Given the description of an element on the screen output the (x, y) to click on. 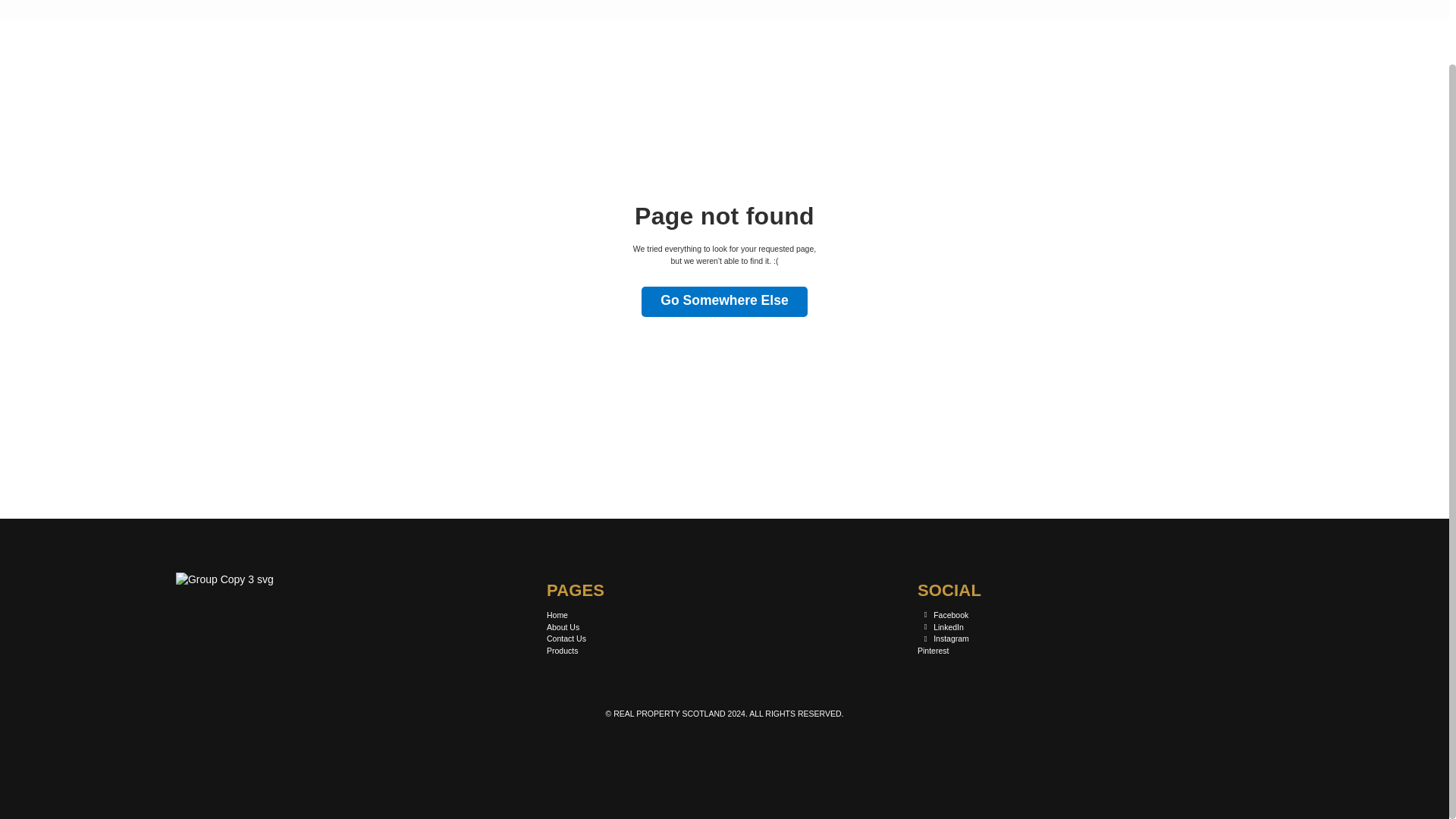
Home (557, 615)
LinkedIn (940, 627)
Products (562, 651)
Contact Us (566, 639)
About Us (563, 627)
Go Somewhere Else (724, 301)
Instagram (943, 639)
Facebook (942, 615)
Pinterest (933, 651)
